Given the description of an element on the screen output the (x, y) to click on. 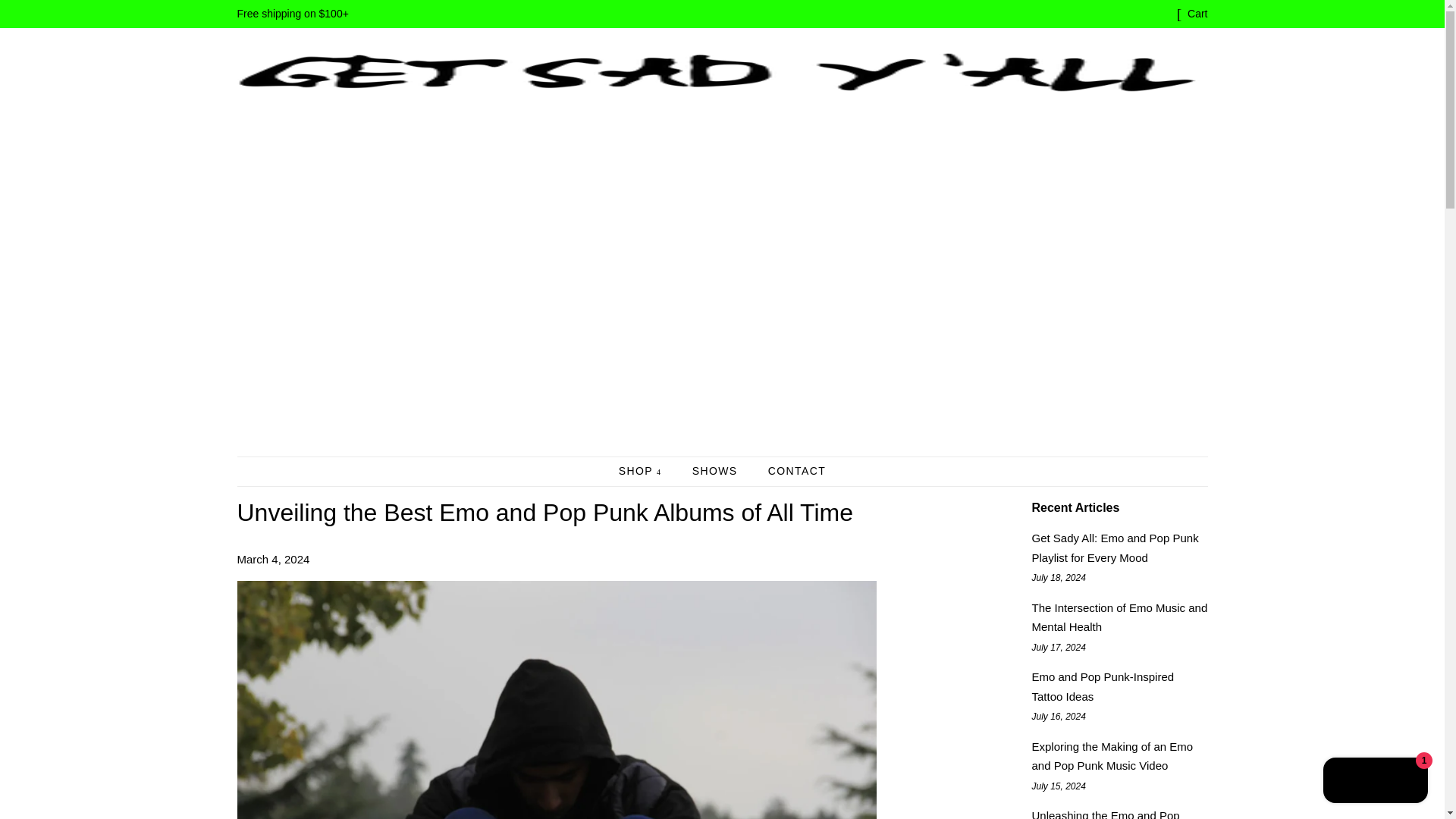
The Intersection of Emo Music and Mental Health (1118, 617)
CONTACT (791, 471)
SHOP (647, 471)
SHOWS (716, 471)
Exploring the Making of an Emo and Pop Punk Music Video (1111, 756)
Emo and Pop Punk-Inspired Tattoo Ideas (1101, 686)
Cart (1197, 13)
Get Sady All: Emo and Pop Punk Playlist for Every Mood (1114, 547)
